Given the description of an element on the screen output the (x, y) to click on. 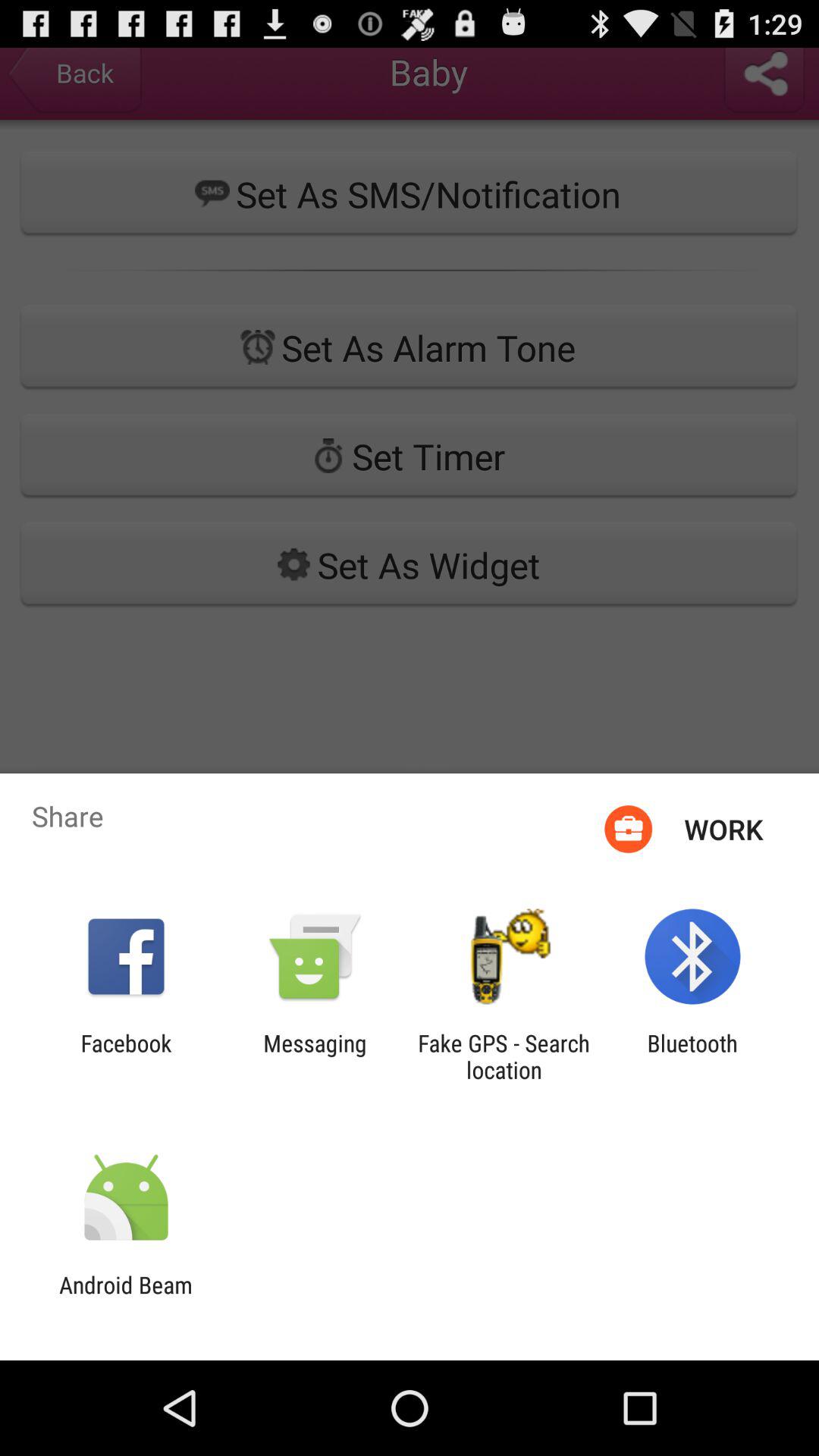
scroll to the facebook (125, 1056)
